Given the description of an element on the screen output the (x, y) to click on. 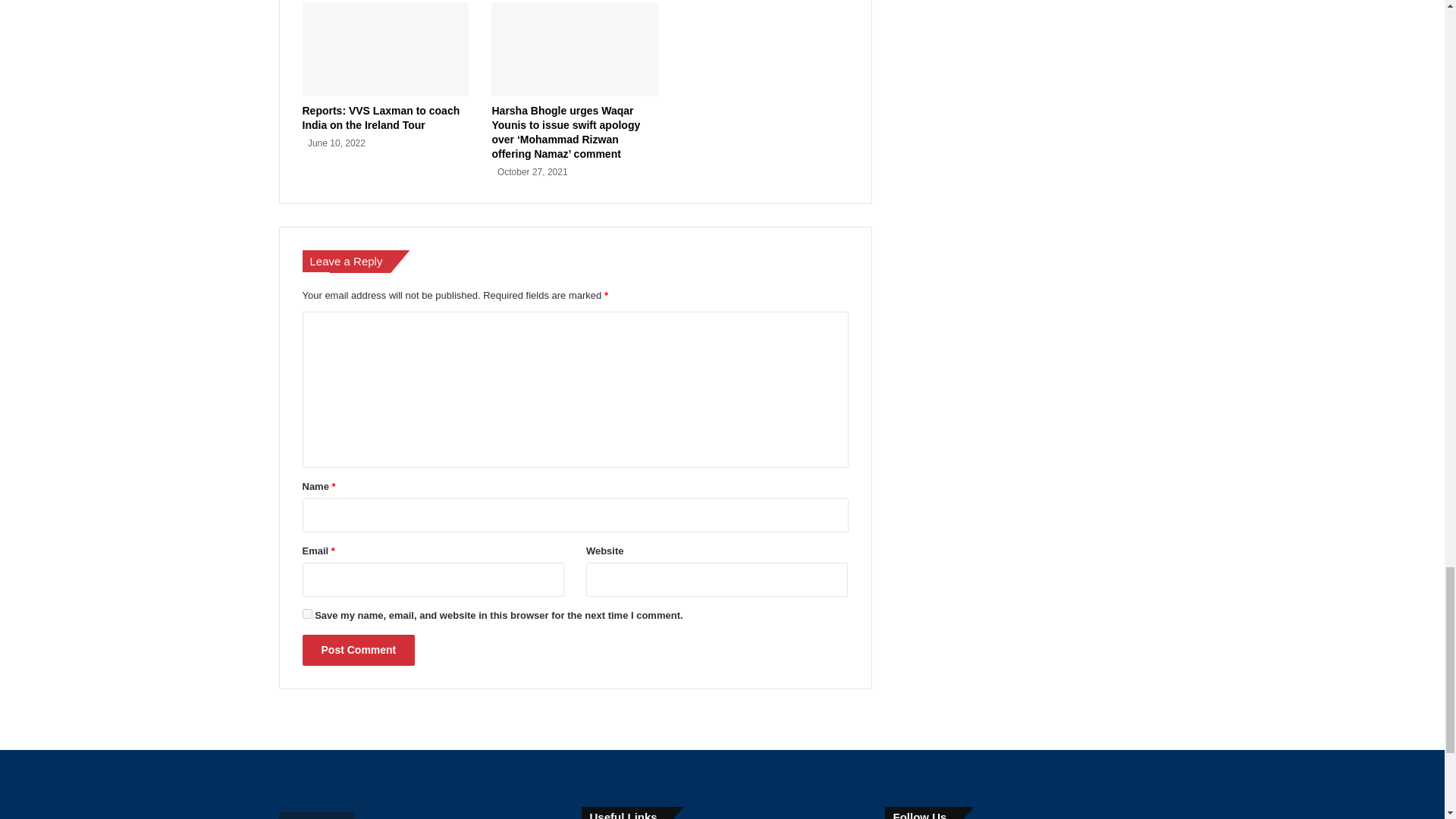
Reports: VVS Laxman to coach India on the Ireland Tour (380, 117)
Post Comment (357, 649)
yes (306, 614)
Post Comment (357, 649)
